Given the description of an element on the screen output the (x, y) to click on. 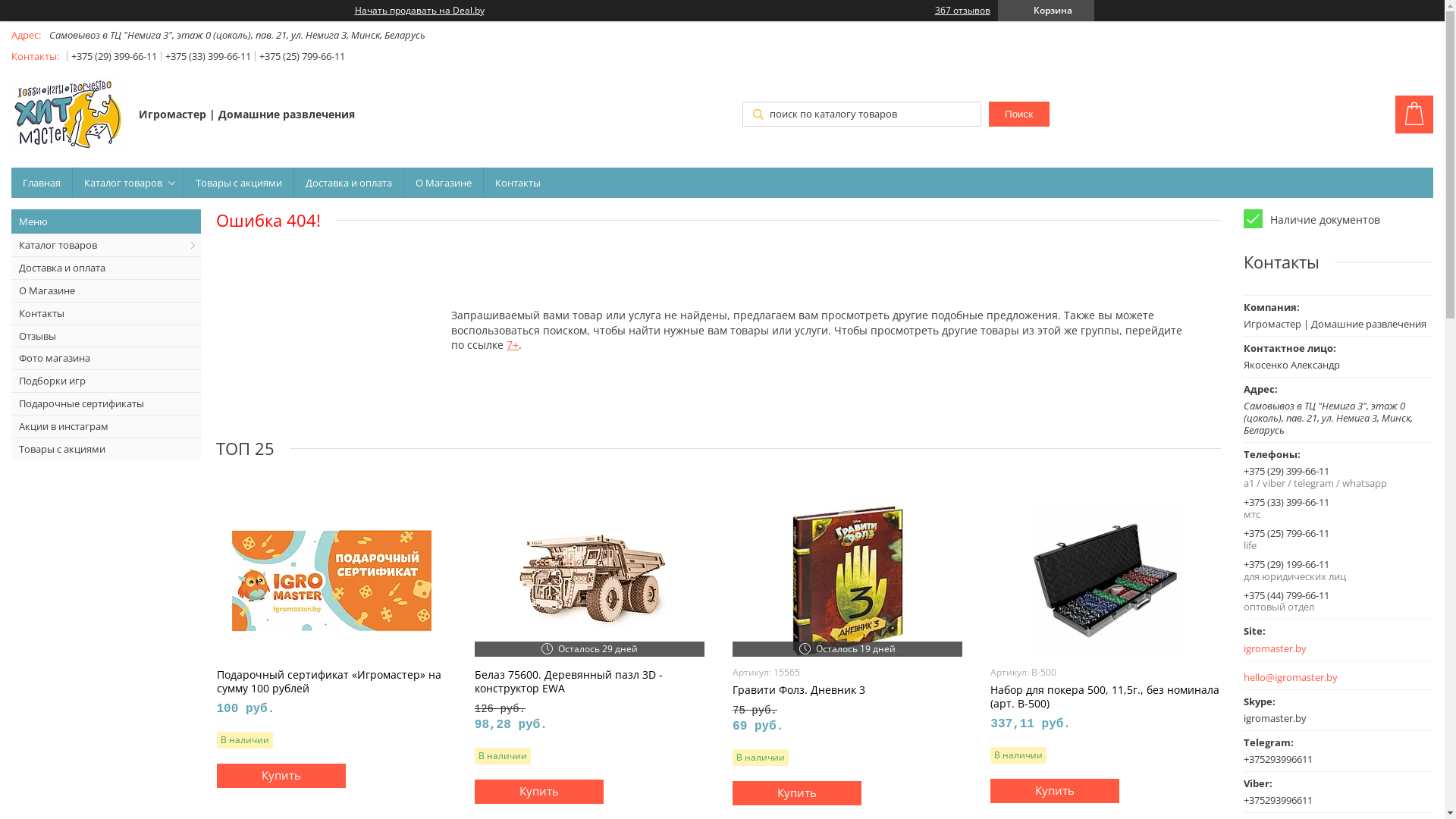
igromaster.by Element type: text (1317, 648)
hello@igromaster.by Element type: text (1290, 677)
7+ Element type: text (512, 344)
